Given the description of an element on the screen output the (x, y) to click on. 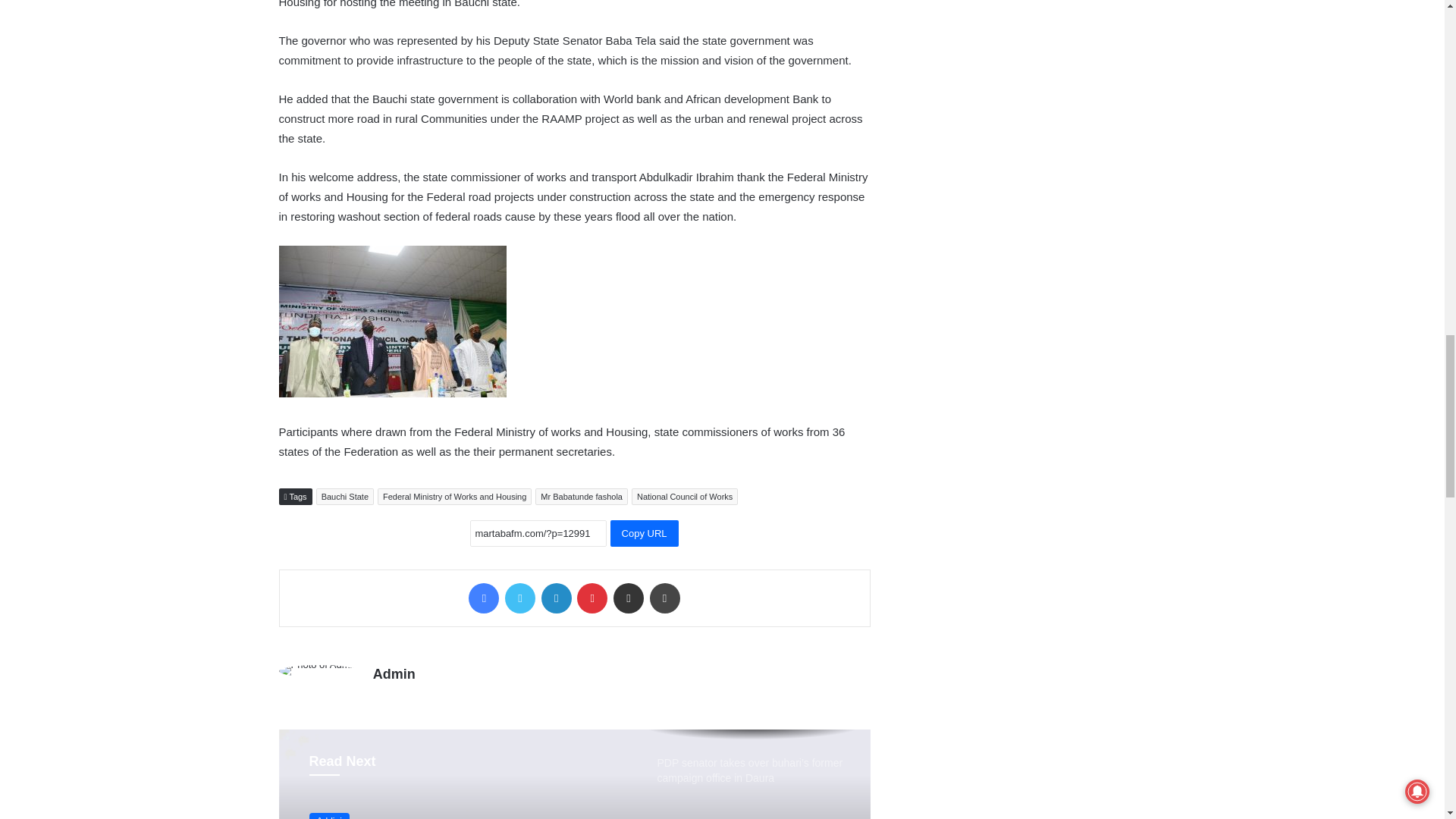
Bauchi State (344, 496)
Copy URL (644, 533)
National Council of Works (684, 496)
Federal Ministry of Works and Housing (454, 496)
Mr Babatunde fashola (581, 496)
